Given the description of an element on the screen output the (x, y) to click on. 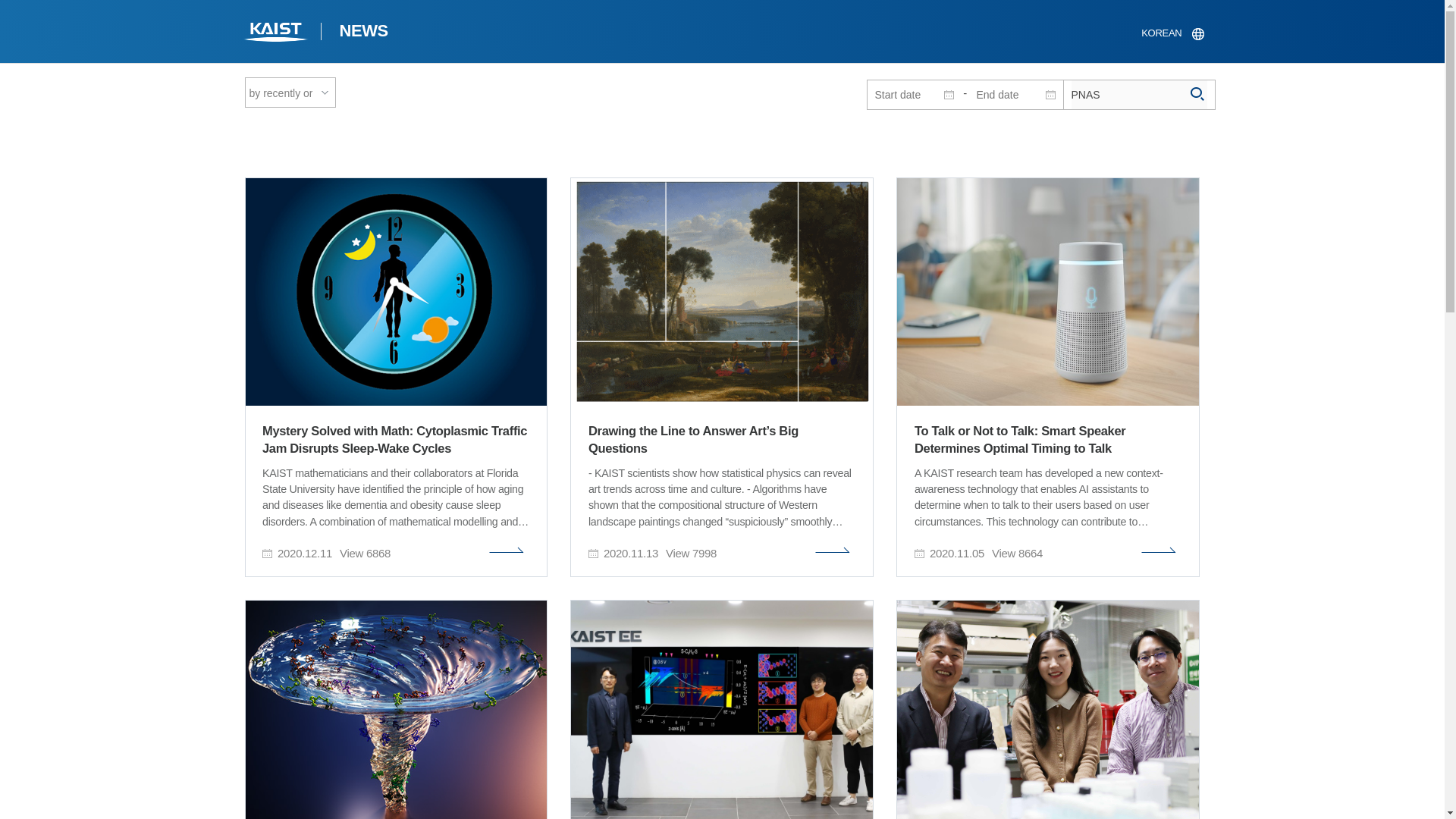
PNAS (1138, 94)
KOREAN (1171, 33)
NEWS (363, 33)
KAIST (276, 33)
Input a Keyword (1138, 94)
